Given the description of an element on the screen output the (x, y) to click on. 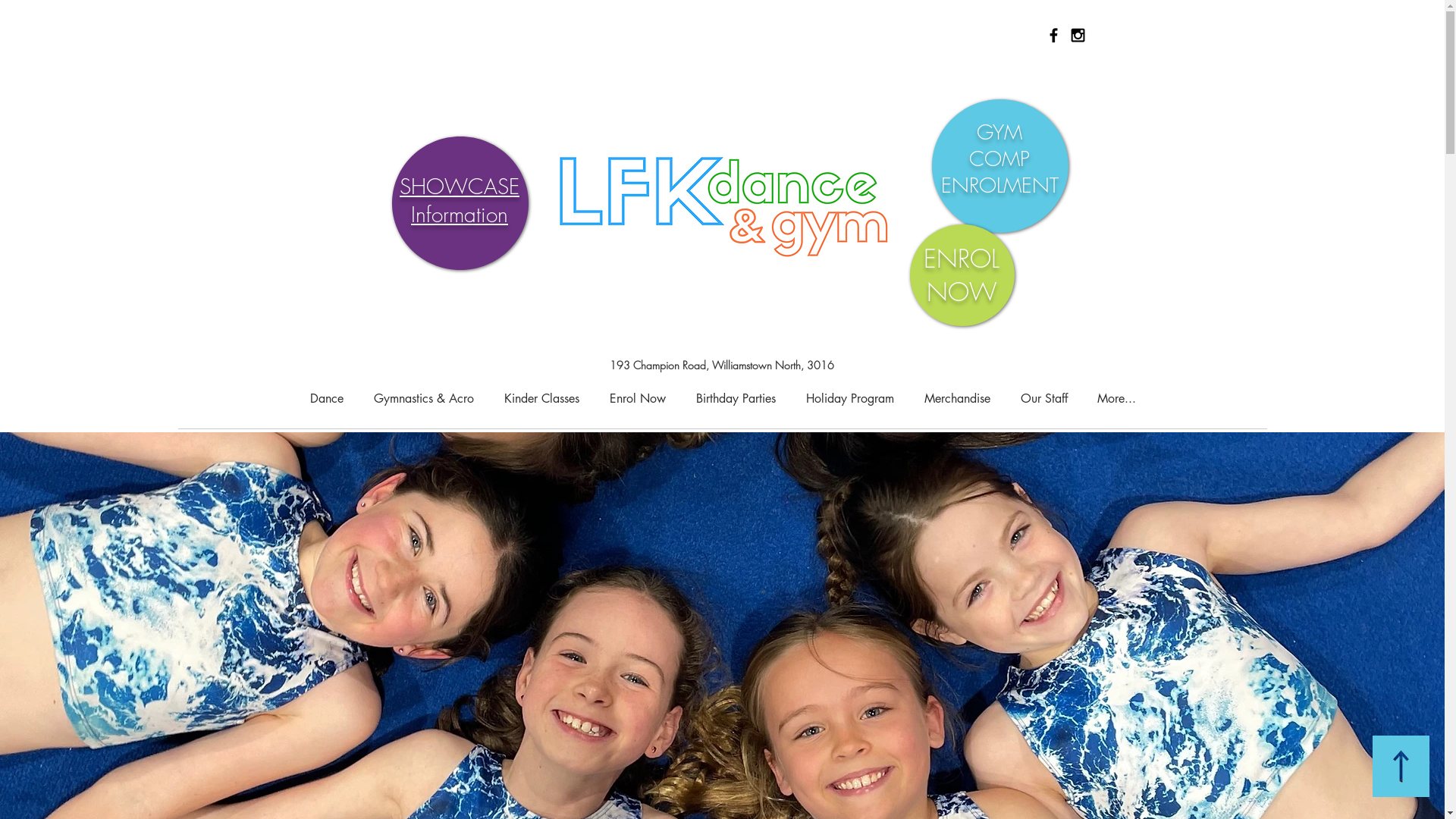
Merchandise Element type: text (956, 398)
Holiday Program Element type: text (849, 398)
Enrol Now Element type: text (637, 398)
GYM
COMP ENROLMENT Element type: text (998, 158)
ENROL
NOW Element type: text (961, 274)
SHOWCASE
Information Element type: text (459, 200)
